Given the description of an element on the screen output the (x, y) to click on. 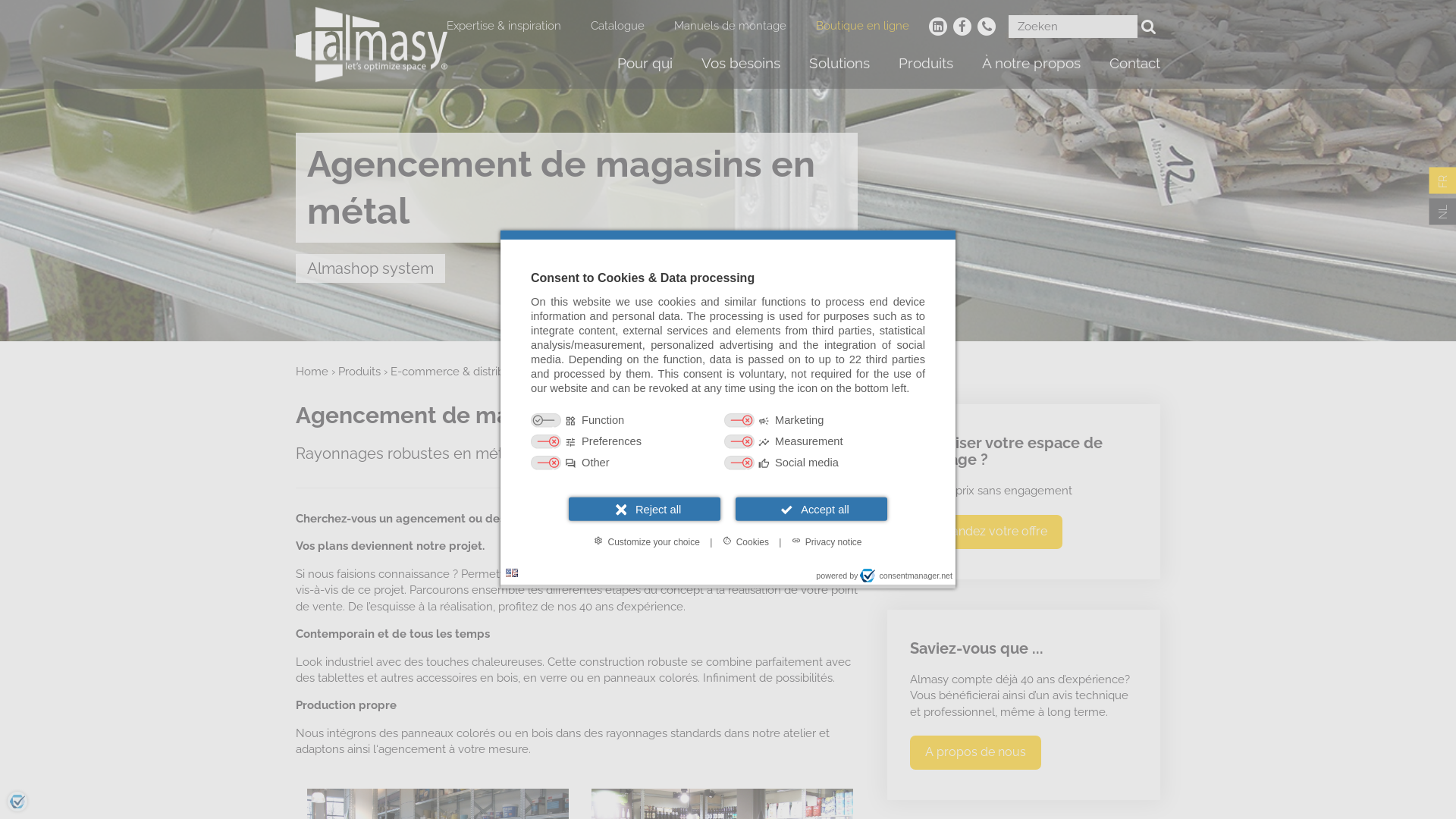
Expertise & inspiration Element type: text (503, 25)
Boutique en ligne Element type: text (862, 25)
+32 3 317 04 20 Element type: hover (986, 26)
Privacy settings Element type: hover (17, 801)
Language: en Element type: hover (511, 572)
Visitez notre page Facebook Element type: hover (961, 26)
Accept all Element type: text (811, 508)
Reject all Element type: text (644, 508)
Catalogue Element type: text (617, 25)
Vos besoins Element type: text (740, 62)
Language: en Element type: hover (511, 572)
Solutions Element type: text (839, 62)
Produits Element type: text (359, 371)
Cookies Element type: text (745, 541)
E-commerce & distribution Element type: text (460, 371)
Home Element type: text (311, 371)
Customize your choice Element type: text (646, 541)
Contact Element type: text (1134, 62)
FR Element type: text (1441, 180)
A propos de nous Element type: text (975, 752)
Privacy notice Element type: text (826, 541)
Manuels de montage Element type: text (730, 25)
Visitez nous sur LinkedIn Element type: hover (937, 26)
Demandez votre offre Element type: text (986, 531)
Produits Element type: text (925, 62)
consentmanager.net Element type: text (905, 575)
Pour qui Element type: text (644, 62)
NL Element type: text (1441, 211)
